Given the description of an element on the screen output the (x, y) to click on. 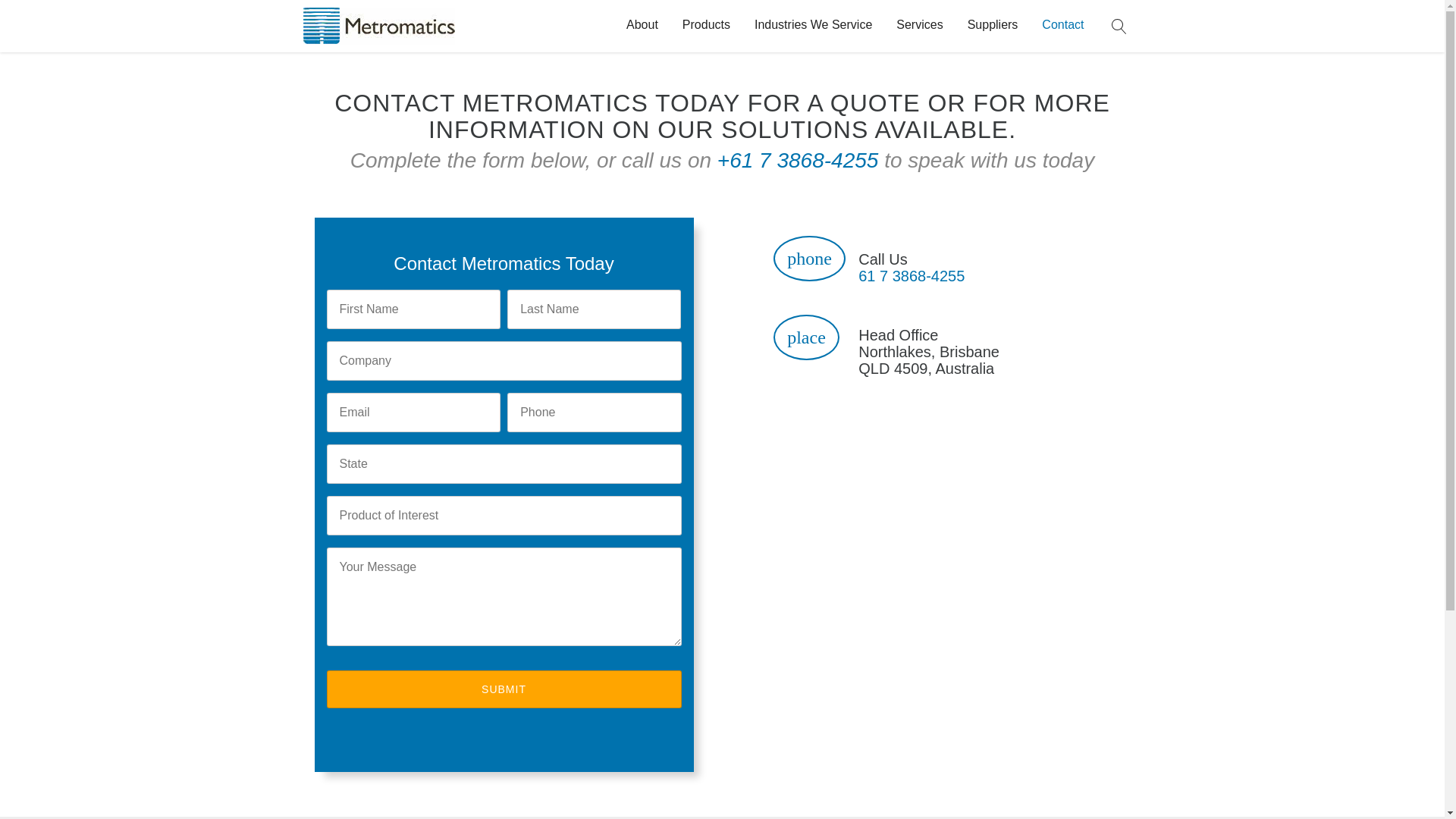
About Element type: text (642, 24)
61 7 3868-4255 Element type: text (911, 275)
Submit Element type: text (503, 689)
Services Element type: text (919, 24)
Products Element type: text (706, 24)
Metromatics Element type: hover (379, 25)
Search Element type: text (1119, 25)
Contact Element type: text (1062, 24)
Industries We Service Element type: text (813, 24)
Suppliers Element type: text (992, 24)
+61 7 3868-4255 Element type: text (797, 160)
